Given the description of an element on the screen output the (x, y) to click on. 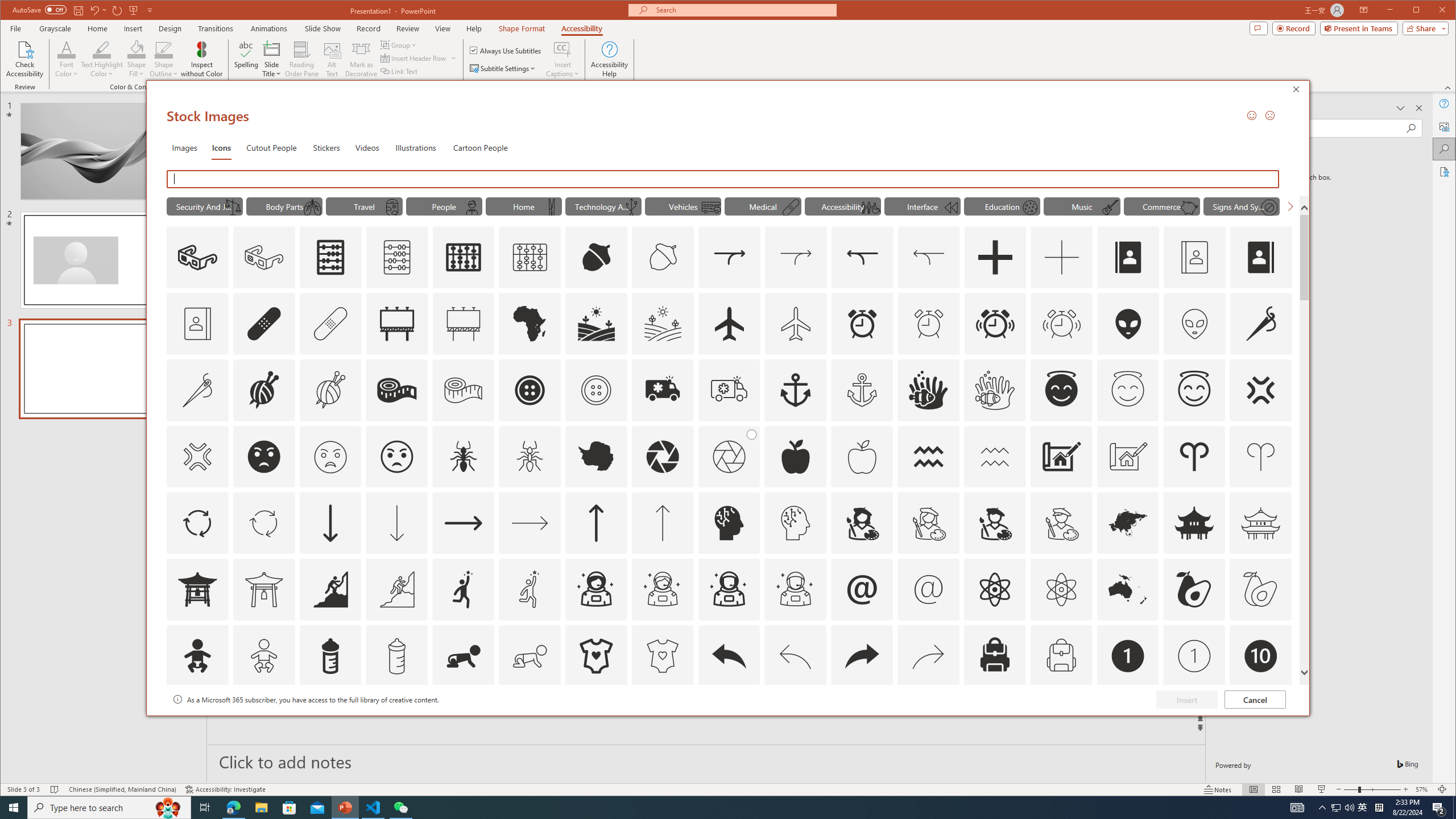
AutomationID: Icons_Badge7 (928, 721)
AutomationID: Icons_Badge3 (397, 721)
AutomationID: Icons_Badge8_M (1128, 721)
Shape Format (521, 28)
AutomationID: Icons_ArtistMale_M (1061, 522)
AutomationID: Icons_Lungs_M (311, 207)
Accessibility (1444, 171)
AutomationID: Icons_At_M (928, 589)
"Interface" Icons. (921, 206)
AutomationID: Icons_Badge1 (1128, 655)
